Given the description of an element on the screen output the (x, y) to click on. 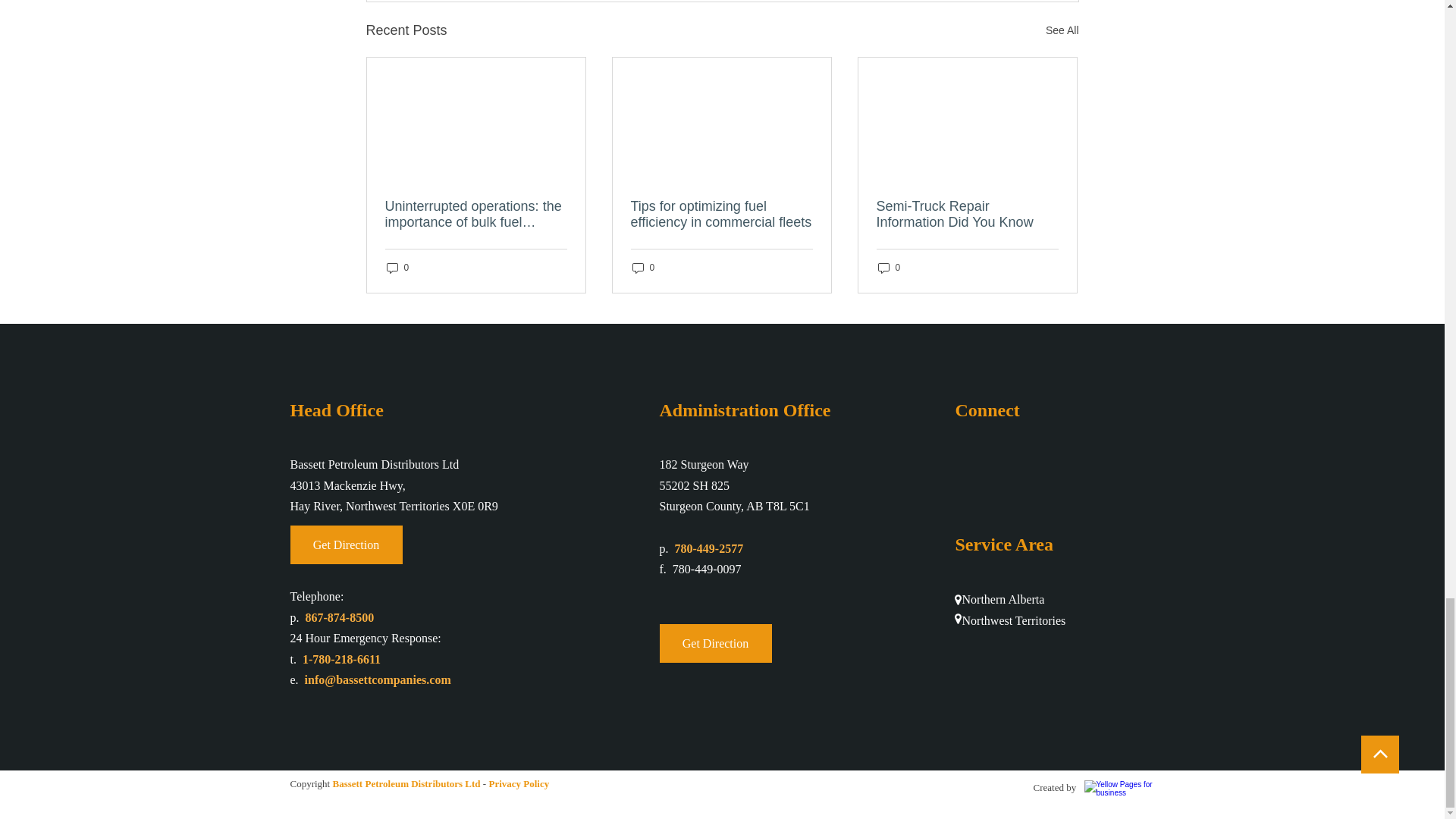
See All (1061, 30)
0 (397, 268)
